Given the description of an element on the screen output the (x, y) to click on. 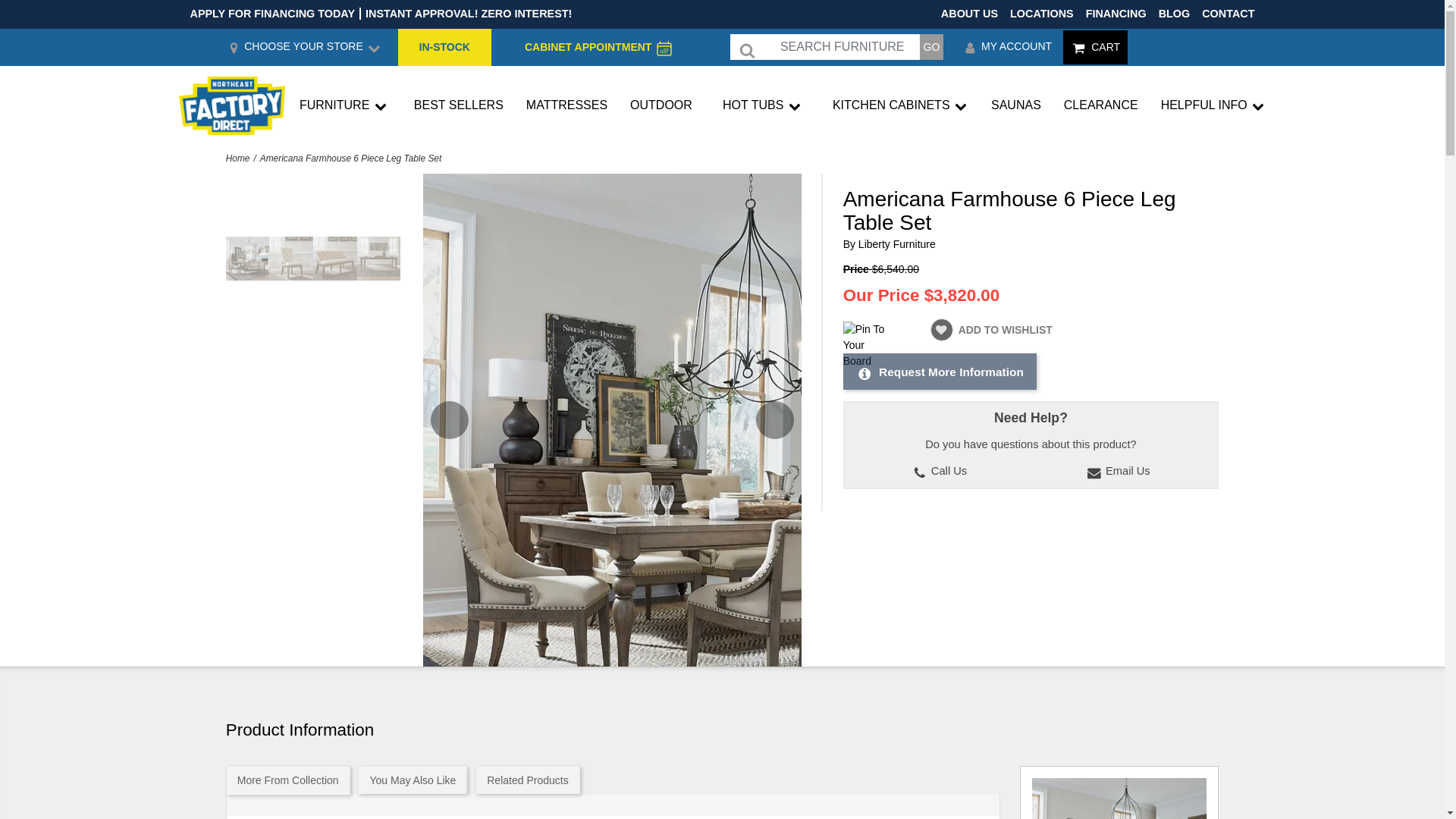
CONTACT (1227, 13)
LOCATIONS (1042, 13)
ABOUT US (968, 13)
Go (930, 46)
MY ACCOUNT (1006, 47)
Change Your Store (303, 47)
IN-STOCK (444, 47)
View Cart (1095, 47)
FINANCING (1116, 13)
BLOG (1174, 13)
